Given the description of an element on the screen output the (x, y) to click on. 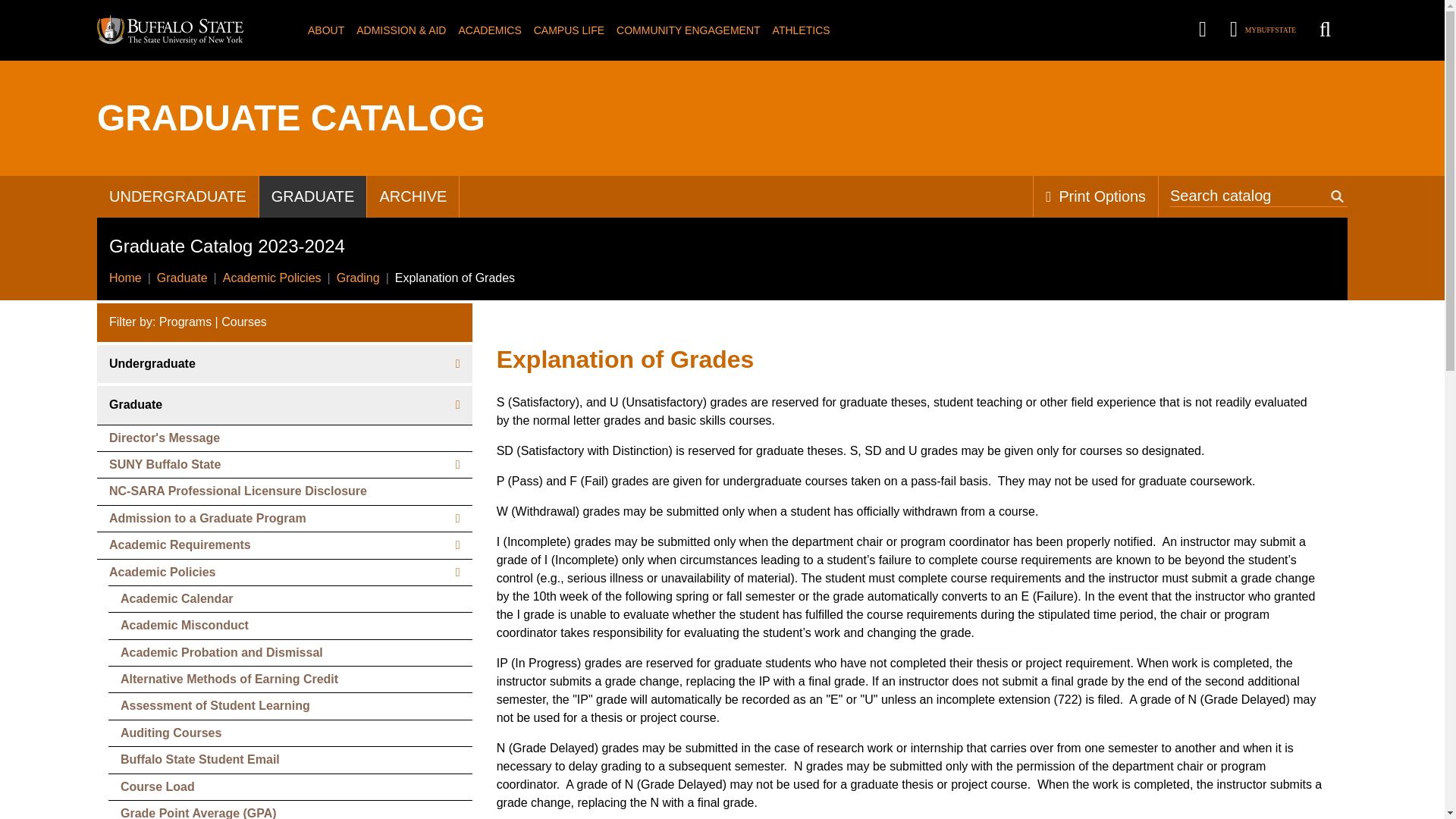
Graduate (284, 404)
CAMPUS LIFE (568, 30)
Search Catalog (1259, 196)
Search (1337, 196)
Academic Misconduct (289, 625)
Print Options (1095, 196)
Academic Probation and Dismissal (289, 652)
GRADUATE (312, 196)
ARCHIVE (412, 196)
NC-SARA Professional Licensure Disclosure (284, 491)
